Given the description of an element on the screen output the (x, y) to click on. 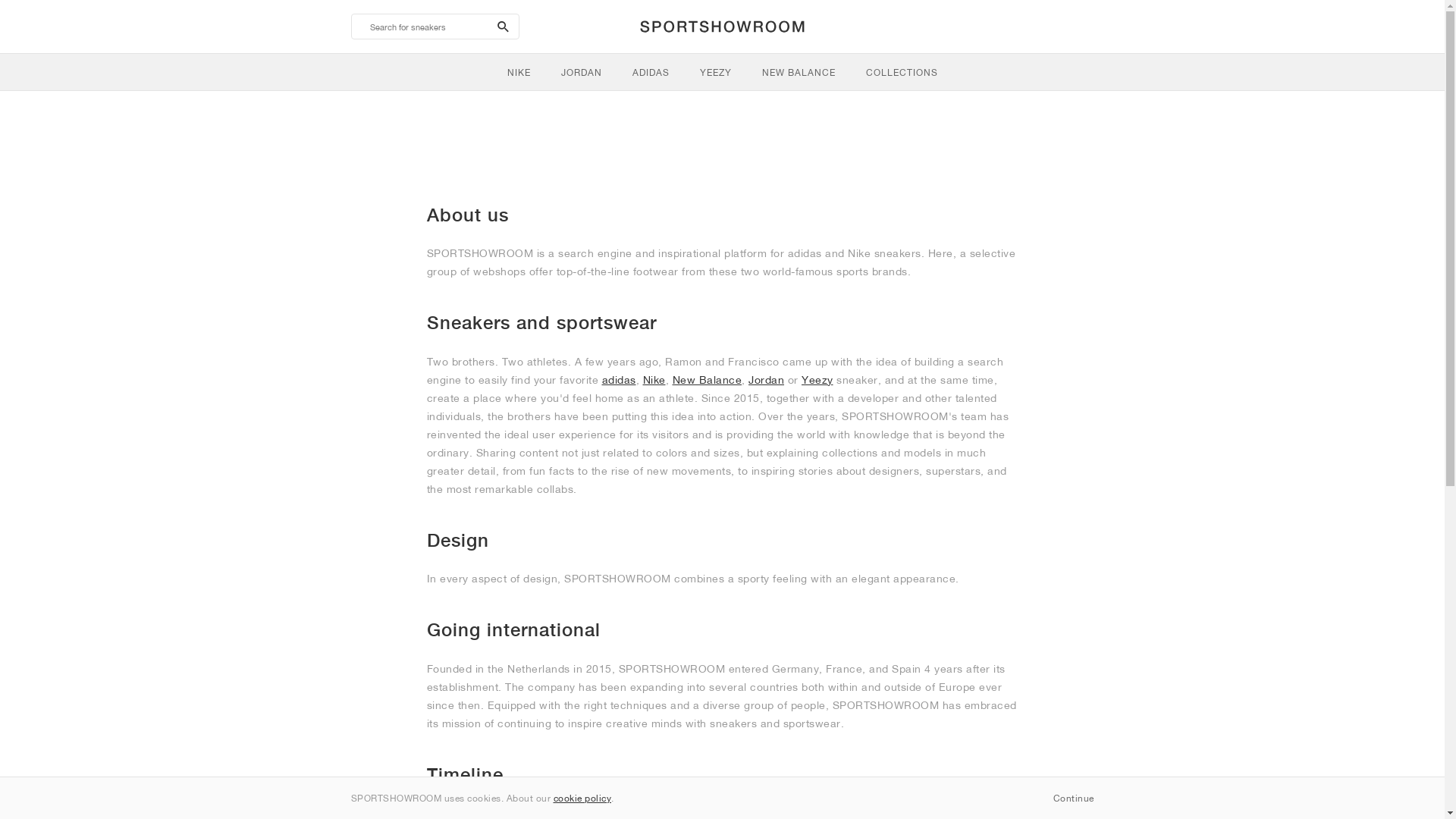
Nike Element type: text (654, 379)
NIKE Element type: text (518, 71)
cookie policy Element type: text (582, 797)
New Balance Element type: text (706, 379)
YEEZY Element type: text (715, 71)
NEW BALANCE Element type: text (797, 71)
adidas Element type: text (619, 379)
Jordan Element type: text (766, 379)
ADIDAS Element type: text (650, 71)
Continue Element type: text (1072, 797)
Yeezy Element type: text (817, 379)
search-btn Element type: text (503, 26)
COLLECTIONS Element type: text (902, 71)
search-btn
NIKE
JORDAN
ADIDAS
YEEZY
NEW BALANCE
COLLECTIONS Element type: text (722, 45)
JORDAN Element type: text (581, 71)
